Given the description of an element on the screen output the (x, y) to click on. 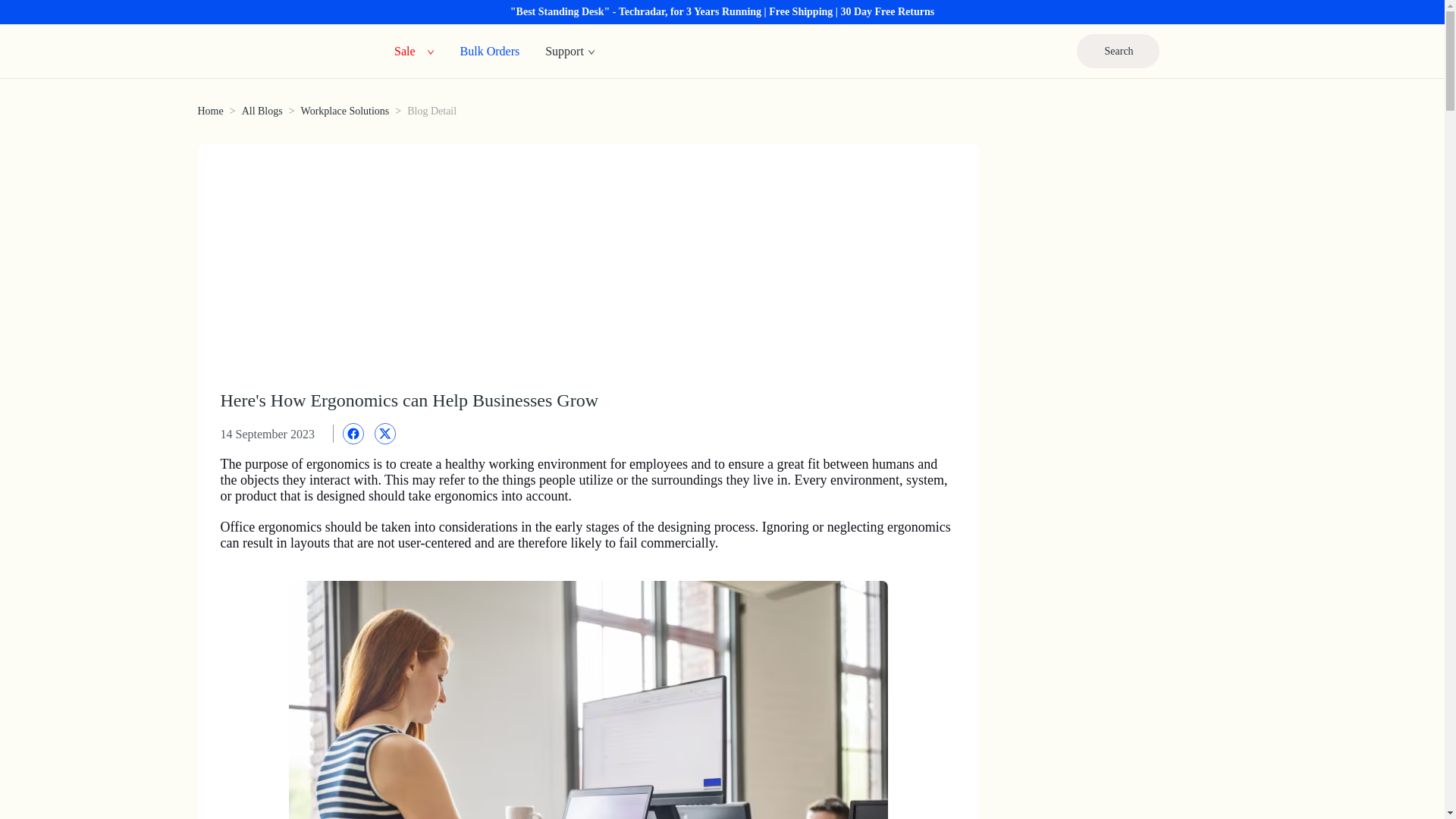
All Blogs (261, 111)
Home (209, 111)
Workplace Solutions (345, 111)
Sale (405, 50)
Bulk Orders (489, 50)
